Given the description of an element on the screen output the (x, y) to click on. 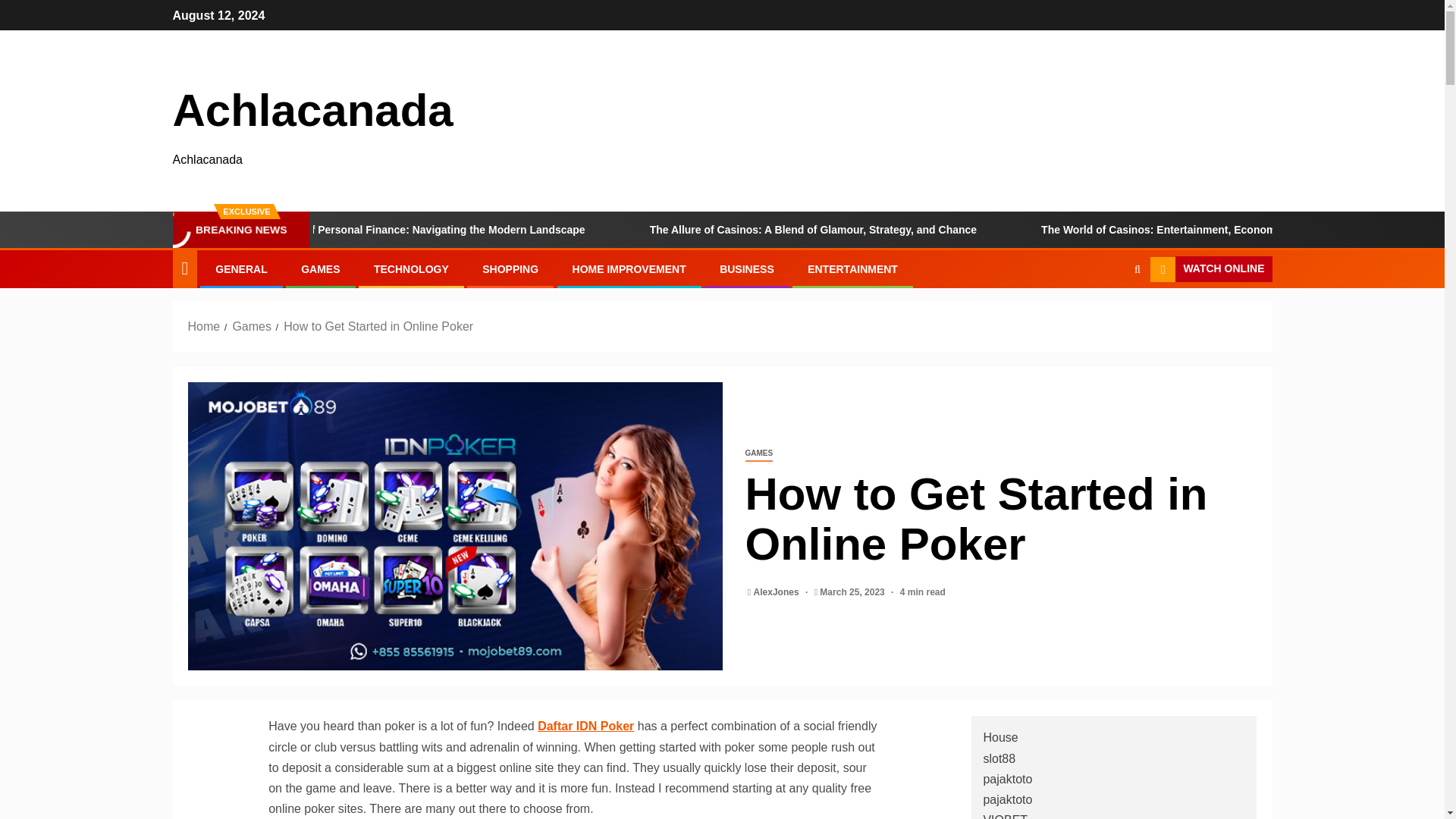
Daftar IDN Poker (585, 725)
TECHNOLOGY (411, 268)
ENTERTAINMENT (853, 268)
Home (204, 326)
AlexJones (778, 592)
SHOPPING (509, 268)
HOME IMPROVEMENT (628, 268)
GAMES (320, 268)
Games (250, 326)
